Given the description of an element on the screen output the (x, y) to click on. 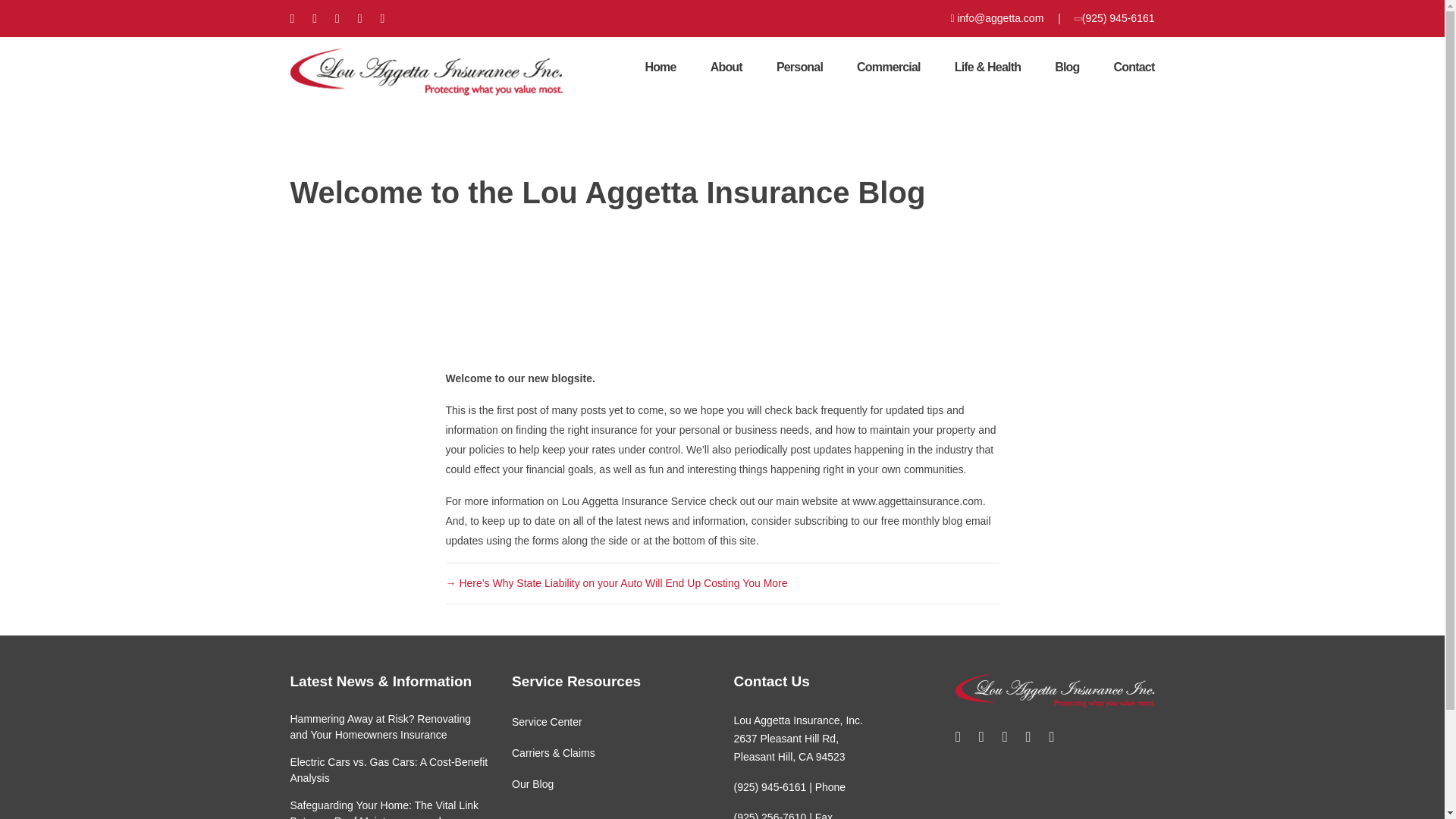
Commercial (888, 66)
About (726, 66)
Service Center (547, 721)
Contact (1133, 66)
Personal (799, 66)
Electric Cars vs. Gas Cars: A Cost-Benefit Analysis (388, 769)
Home (660, 66)
Blog (1066, 66)
Our Blog (532, 784)
